Given the description of an element on the screen output the (x, y) to click on. 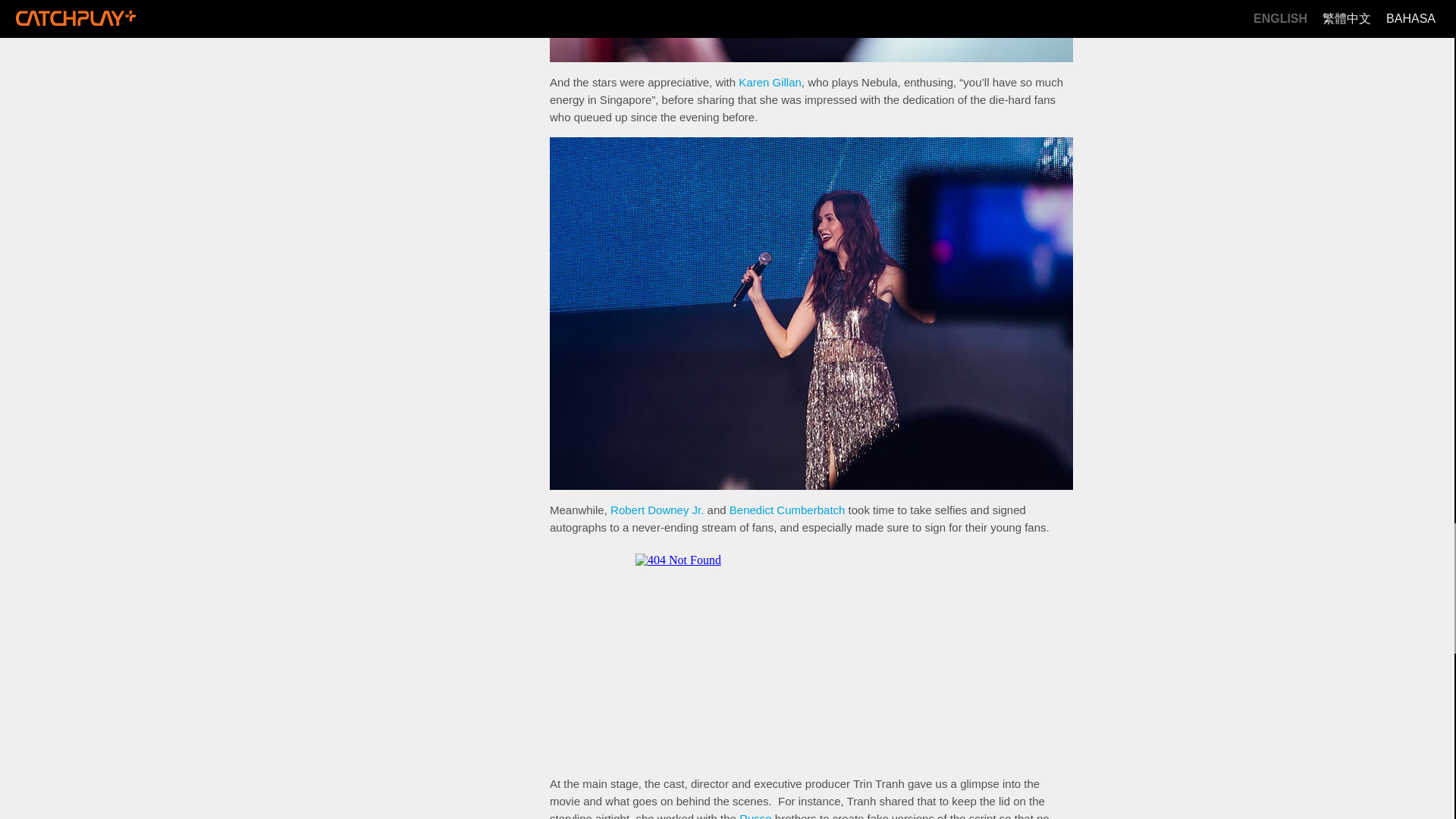
Robert Downey Jr. (656, 509)
Karen Gillan (770, 82)
Russo (755, 815)
Benedict Cumberbatch (787, 509)
